Given the description of an element on the screen output the (x, y) to click on. 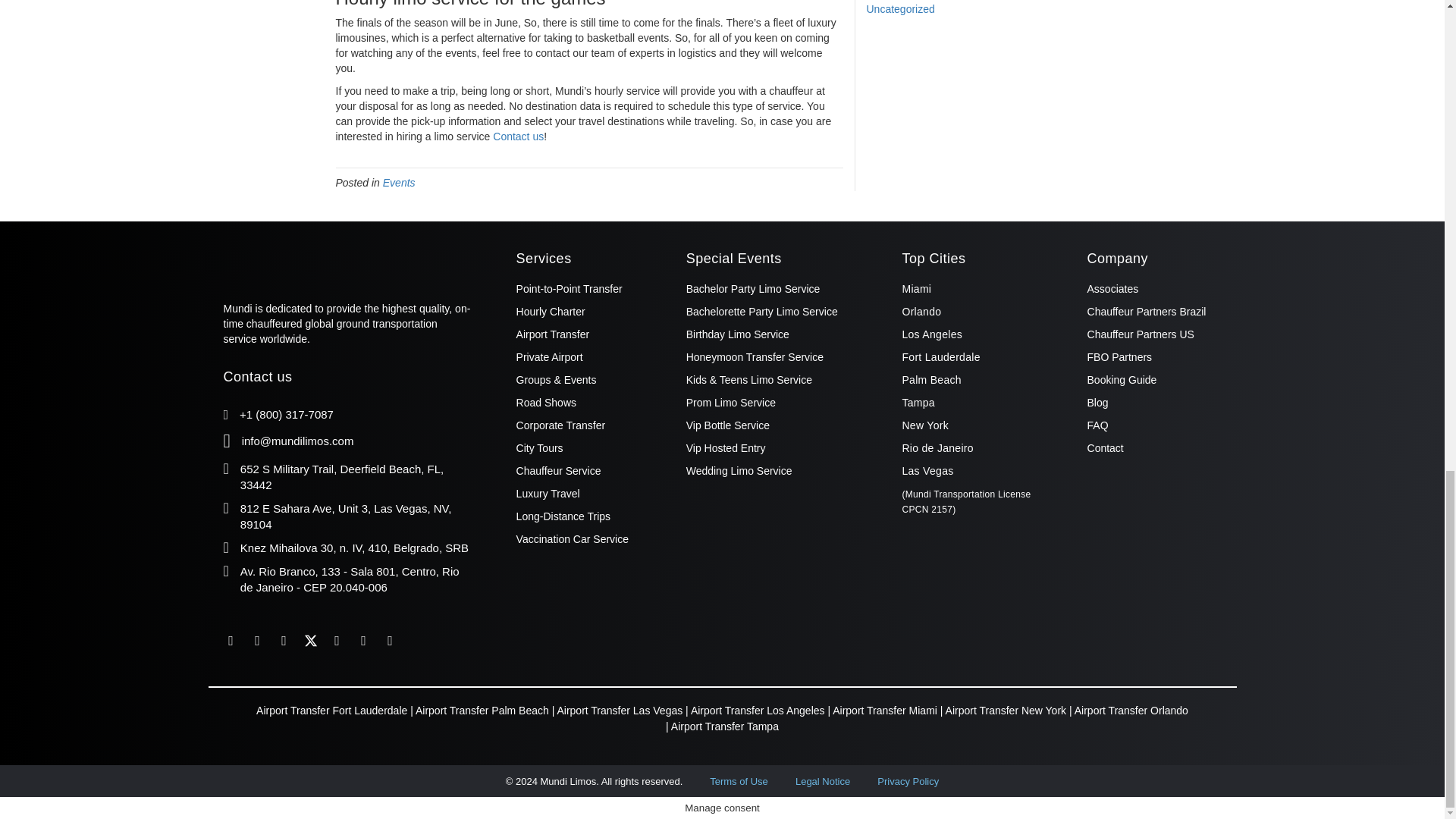
Linkedin Mundi Luxury Transportation (257, 640)
Instagram Mundi Limousine Florida (283, 640)
Logo Mundi (298, 261)
Canal Youtube Mundi Limos (336, 640)
Facebook Mundi Limos (230, 640)
Contact us (518, 136)
Events (398, 182)
